Given the description of an element on the screen output the (x, y) to click on. 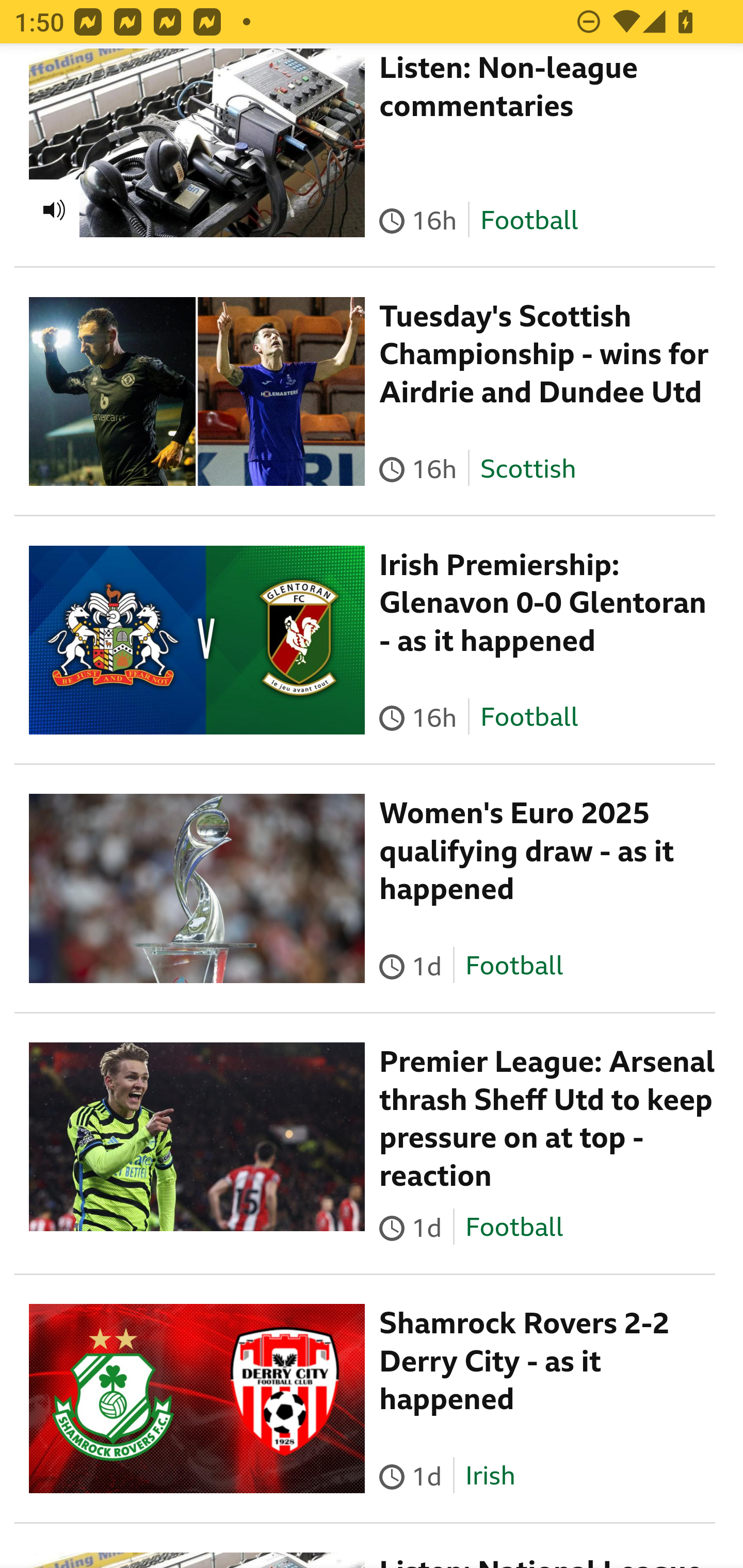
Listen: Non-league commentaries (508, 86)
Football (528, 220)
Scottish (528, 469)
Football (528, 717)
Women's Euro 2025 qualifying draw - as it happened (526, 851)
Football (513, 967)
Football (513, 1228)
Shamrock Rovers 2-2 Derry City - as it happened (523, 1363)
Irish (489, 1475)
